Given the description of an element on the screen output the (x, y) to click on. 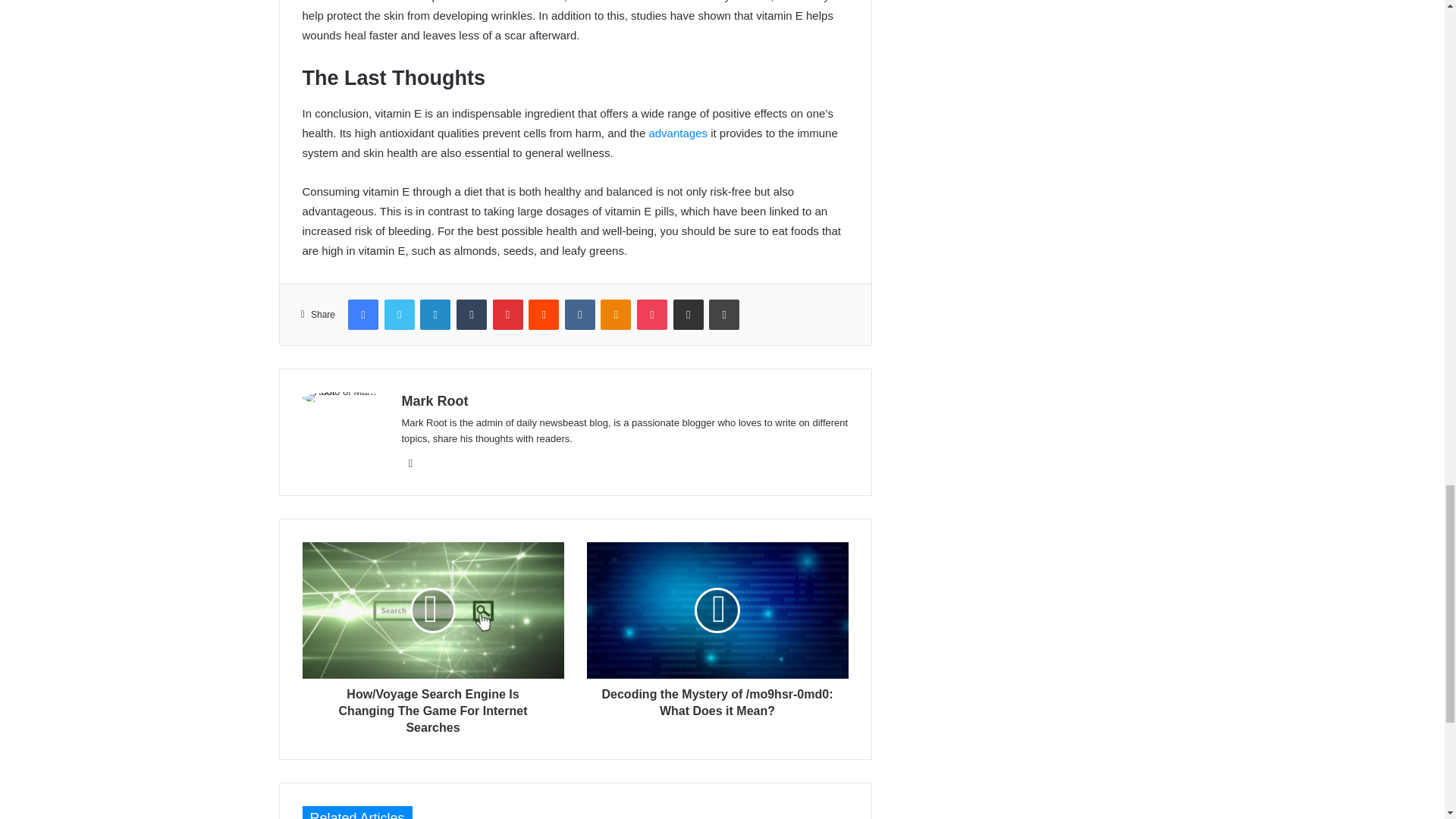
advantages (677, 132)
